Given the description of an element on the screen output the (x, y) to click on. 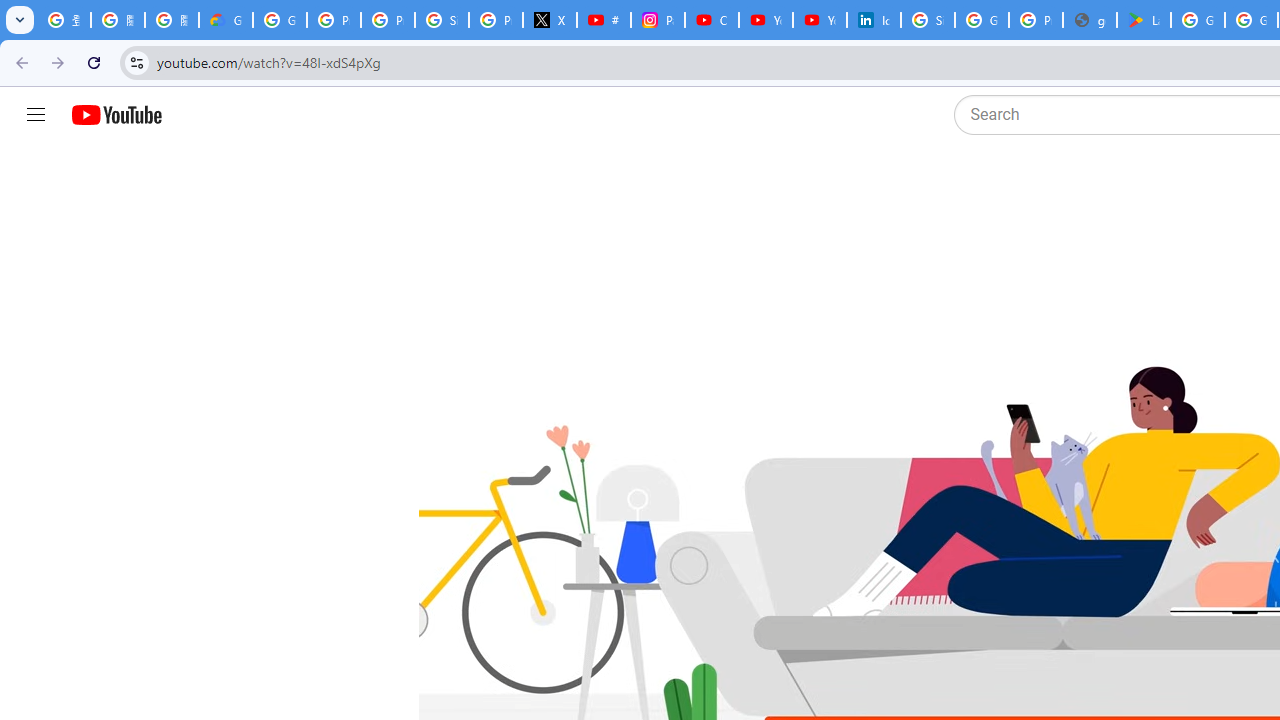
YouTube Home (116, 115)
Google Cloud Privacy Notice (225, 20)
Sign in - Google Accounts (927, 20)
Privacy Help Center - Policies Help (387, 20)
X (550, 20)
Guide (35, 115)
